Given the description of an element on the screen output the (x, y) to click on. 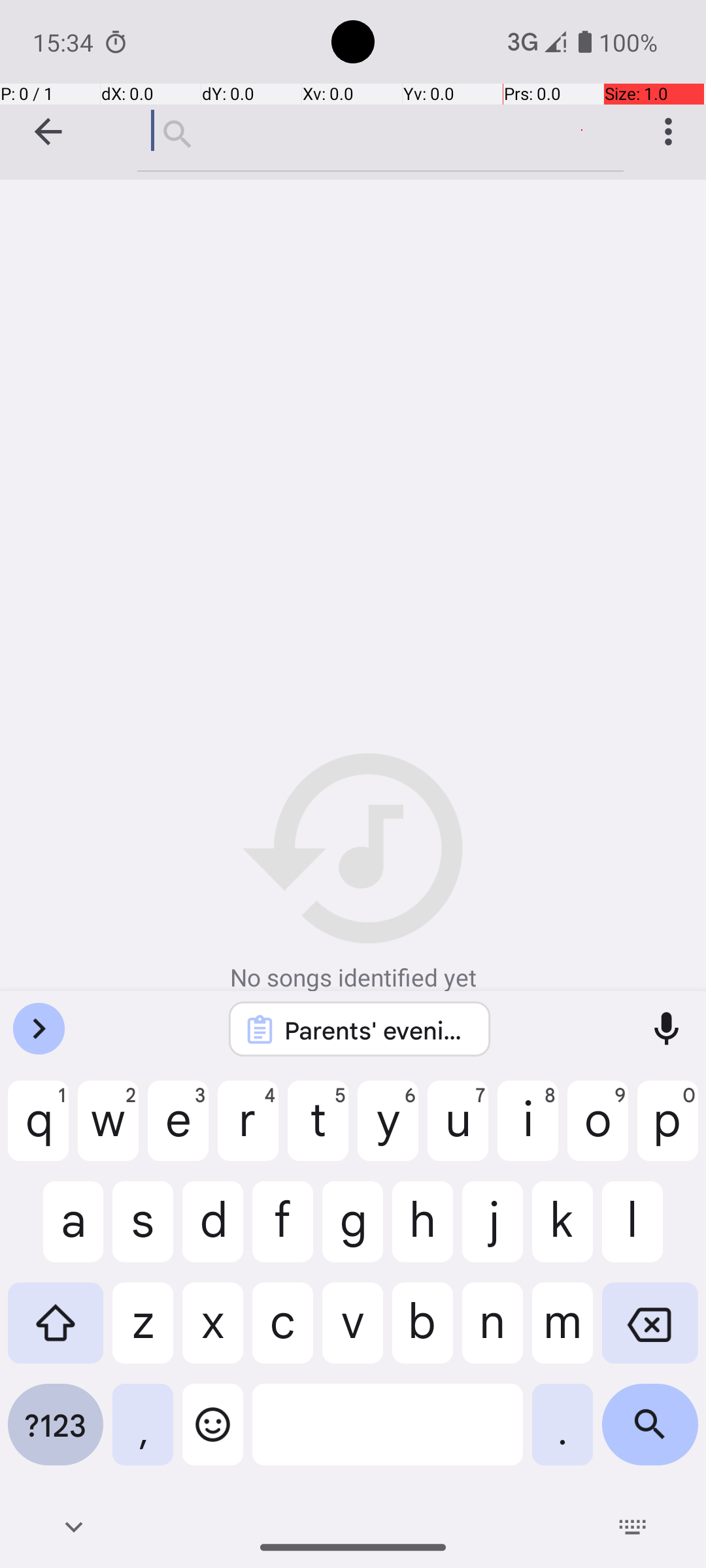
    Element type: android.widget.AutoCompleteTextView (380, 130)
No songs identified yet Element type: android.widget.TextView (353, 873)
